Given the description of an element on the screen output the (x, y) to click on. 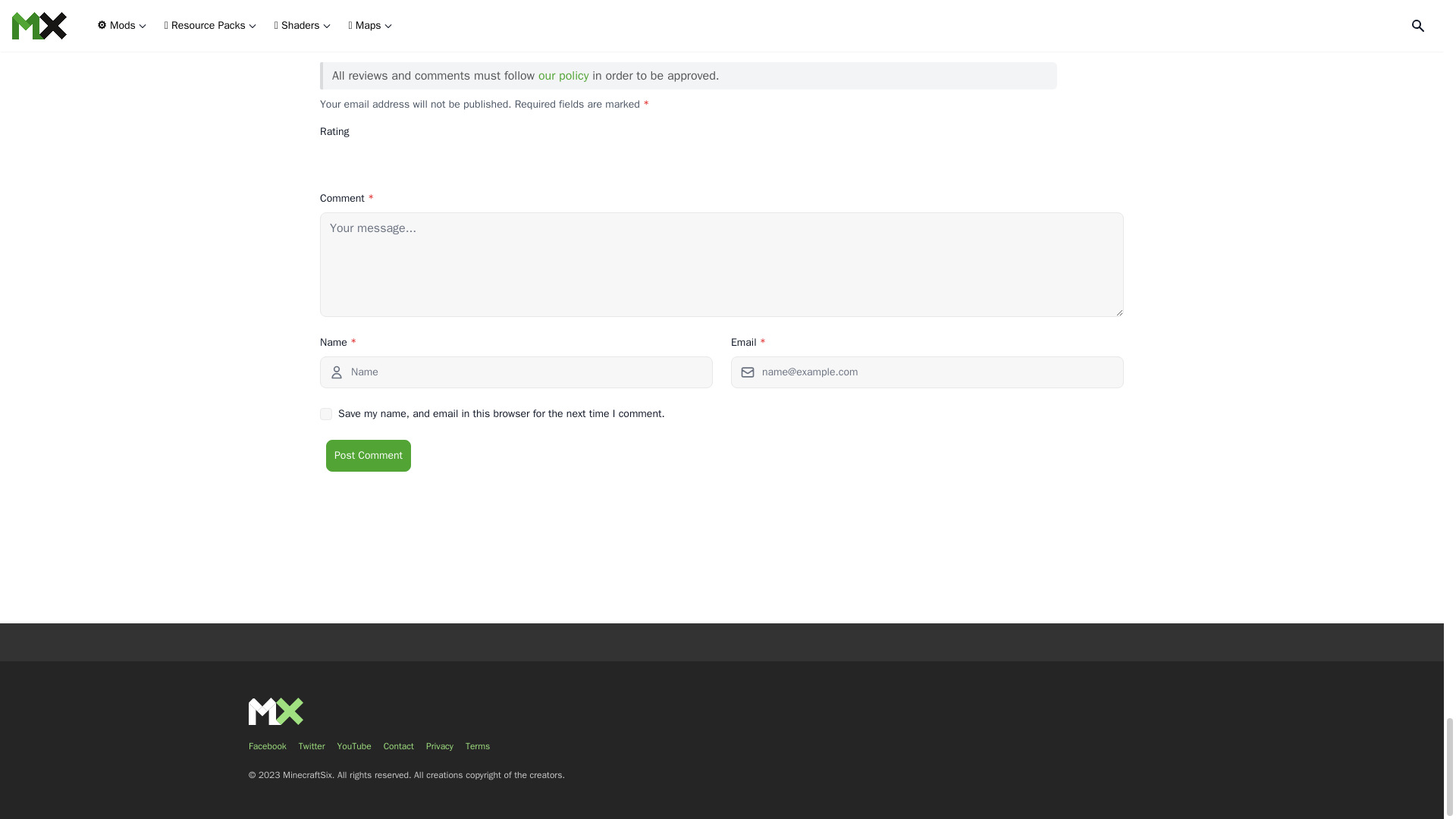
yes (325, 413)
Post Comment (368, 455)
MinecraftSix (275, 710)
